Given the description of an element on the screen output the (x, y) to click on. 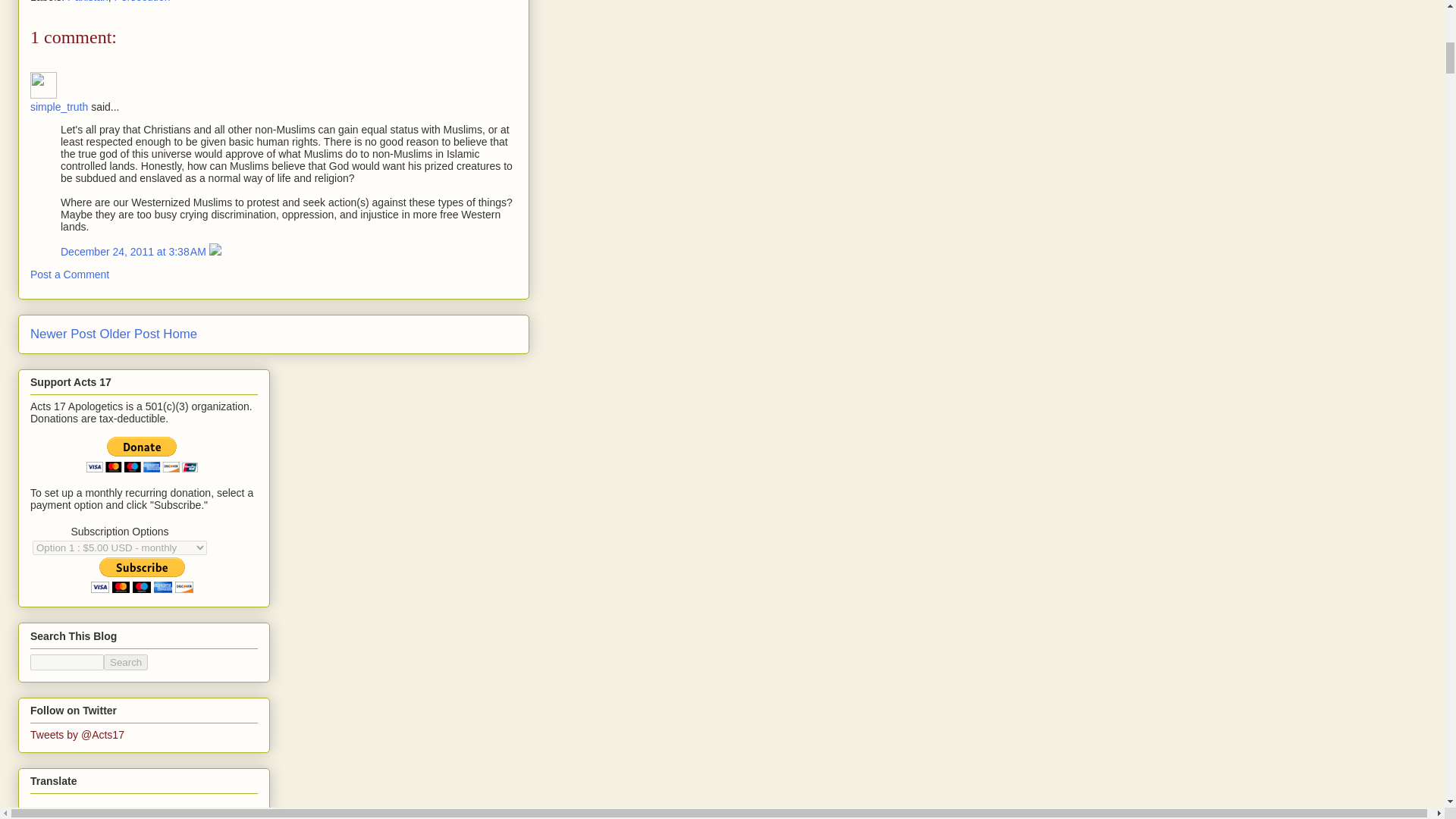
Search (125, 661)
Pakistan (86, 1)
Older Post (128, 333)
search (66, 661)
Newer Post (63, 333)
comment permalink (135, 251)
Search (125, 661)
Newer Post (63, 333)
Persecution (142, 1)
Search (125, 661)
Older Post (128, 333)
search (125, 661)
Post a Comment (69, 274)
Home (179, 333)
